Given the description of an element on the screen output the (x, y) to click on. 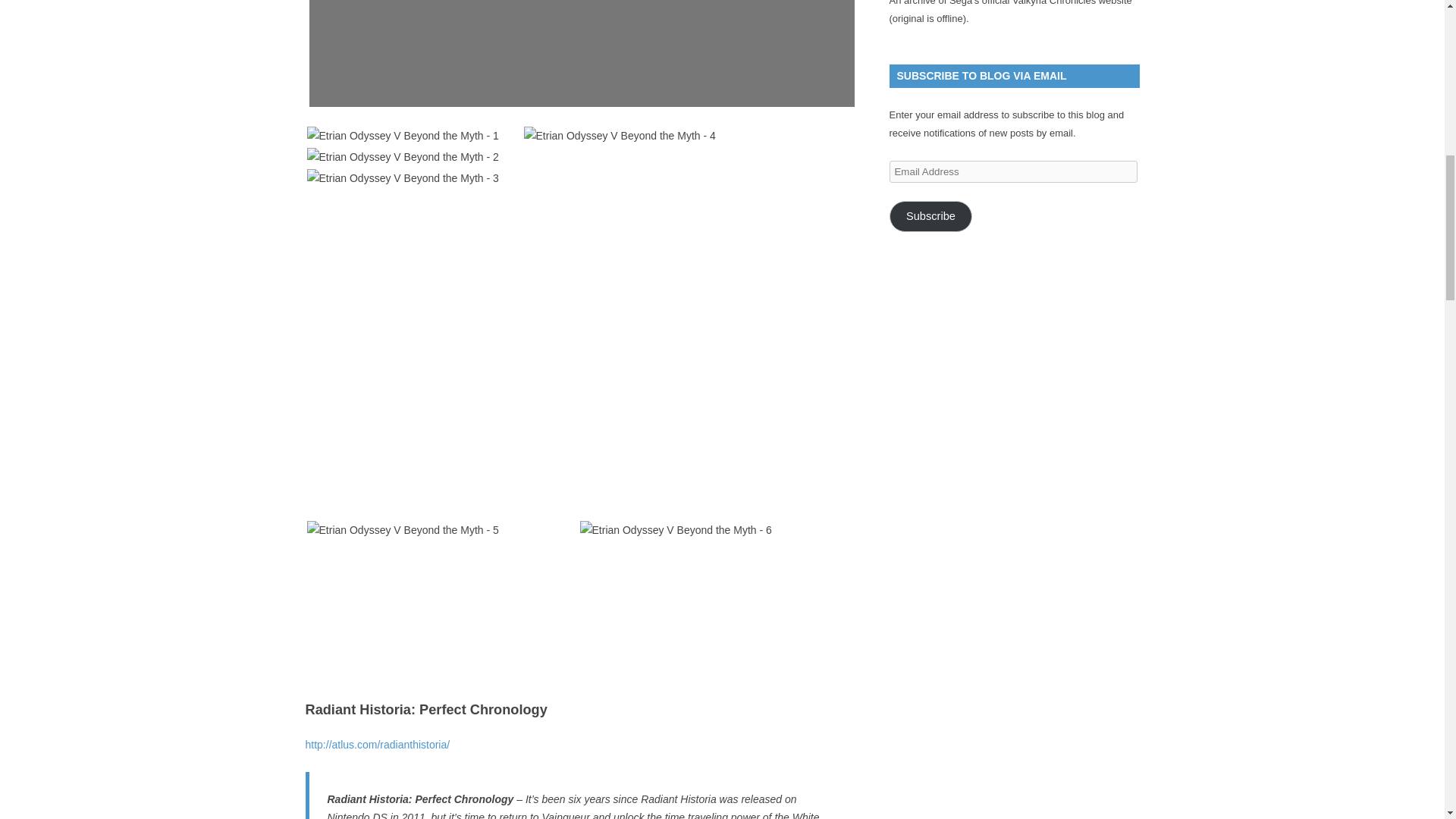
Etrian Odyssey V Beyond the Myth - 5 (401, 529)
Etrian Odyssey V: Beyond the Myth - Announcement Trailer (582, 53)
Etrian Odyssey V Beyond the Myth - 6 (675, 529)
Etrian Odyssey V Beyond the Myth - 1 (401, 135)
Etrian Odyssey V Beyond the Myth - 4 (618, 135)
Etrian Odyssey V Beyond the Myth - 3 (401, 177)
Etrian Odyssey V Beyond the Myth - 2 (401, 157)
